Given the description of an element on the screen output the (x, y) to click on. 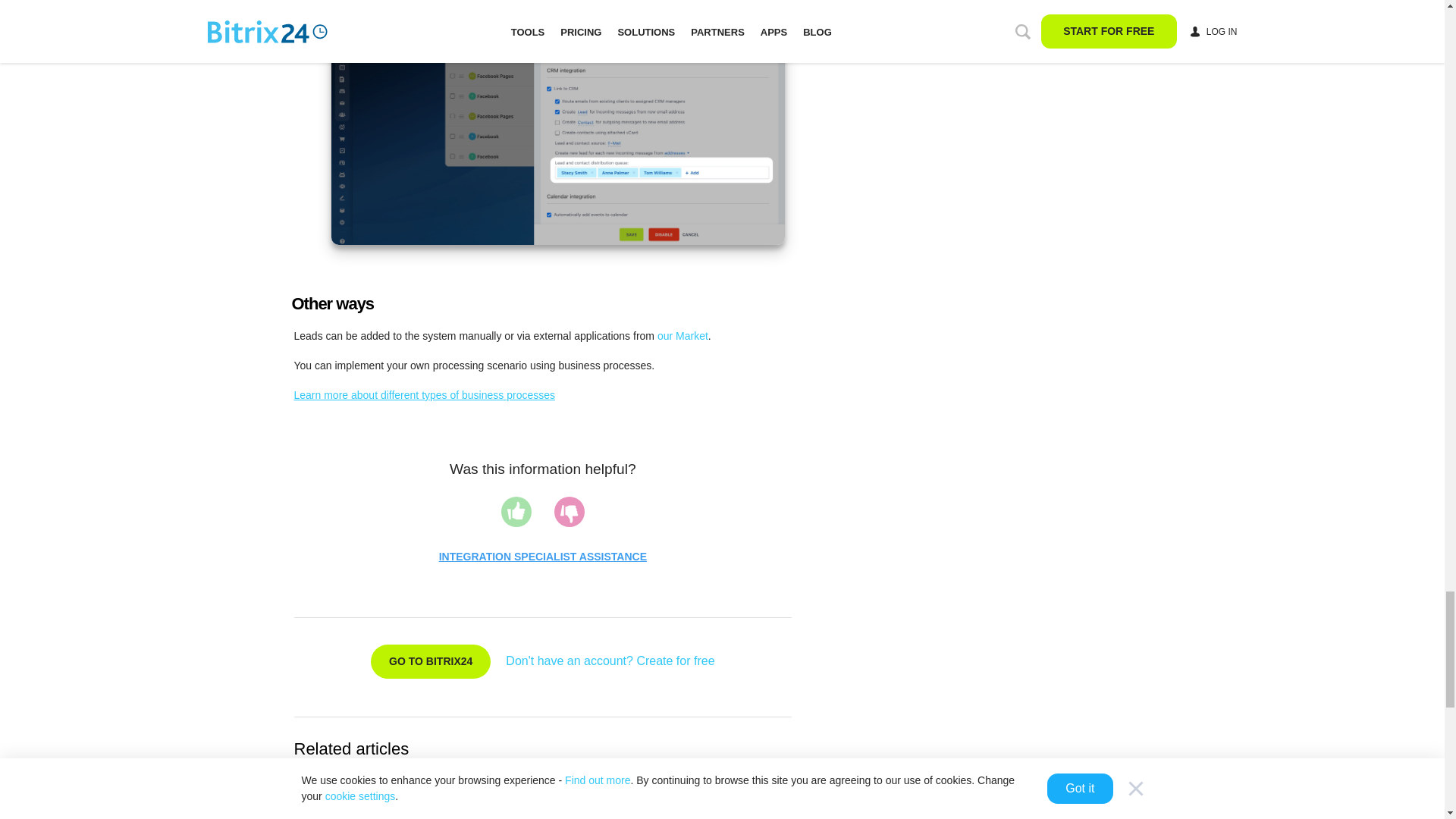
Create CRM entities from source (406, 782)
Learn more about different types of business processes (425, 395)
Distribution queue (557, 122)
GO TO BITRIX24 (430, 661)
Create a lead (406, 807)
Don't have an account? Create for free (609, 660)
our Market (682, 336)
